Given the description of an element on the screen output the (x, y) to click on. 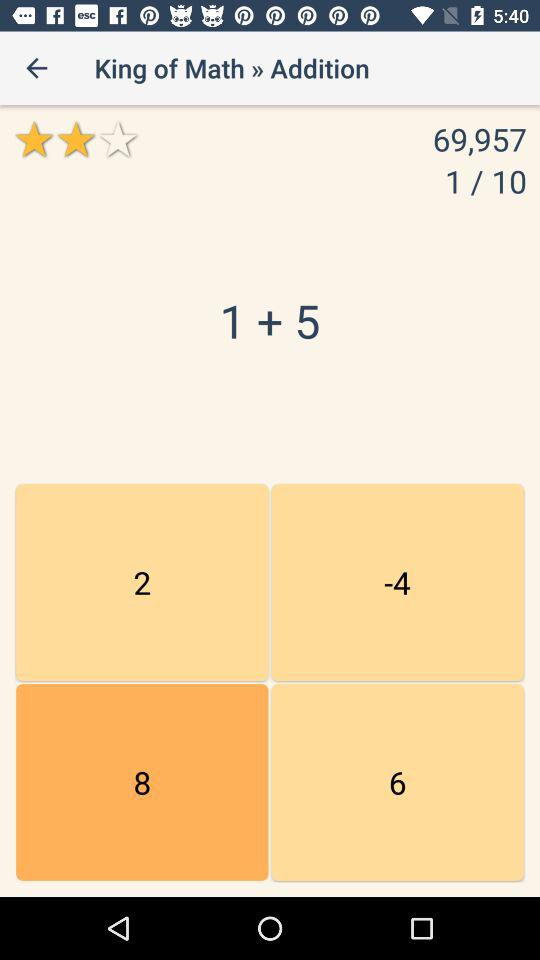
open the item below the 15 (142, 781)
